Given the description of an element on the screen output the (x, y) to click on. 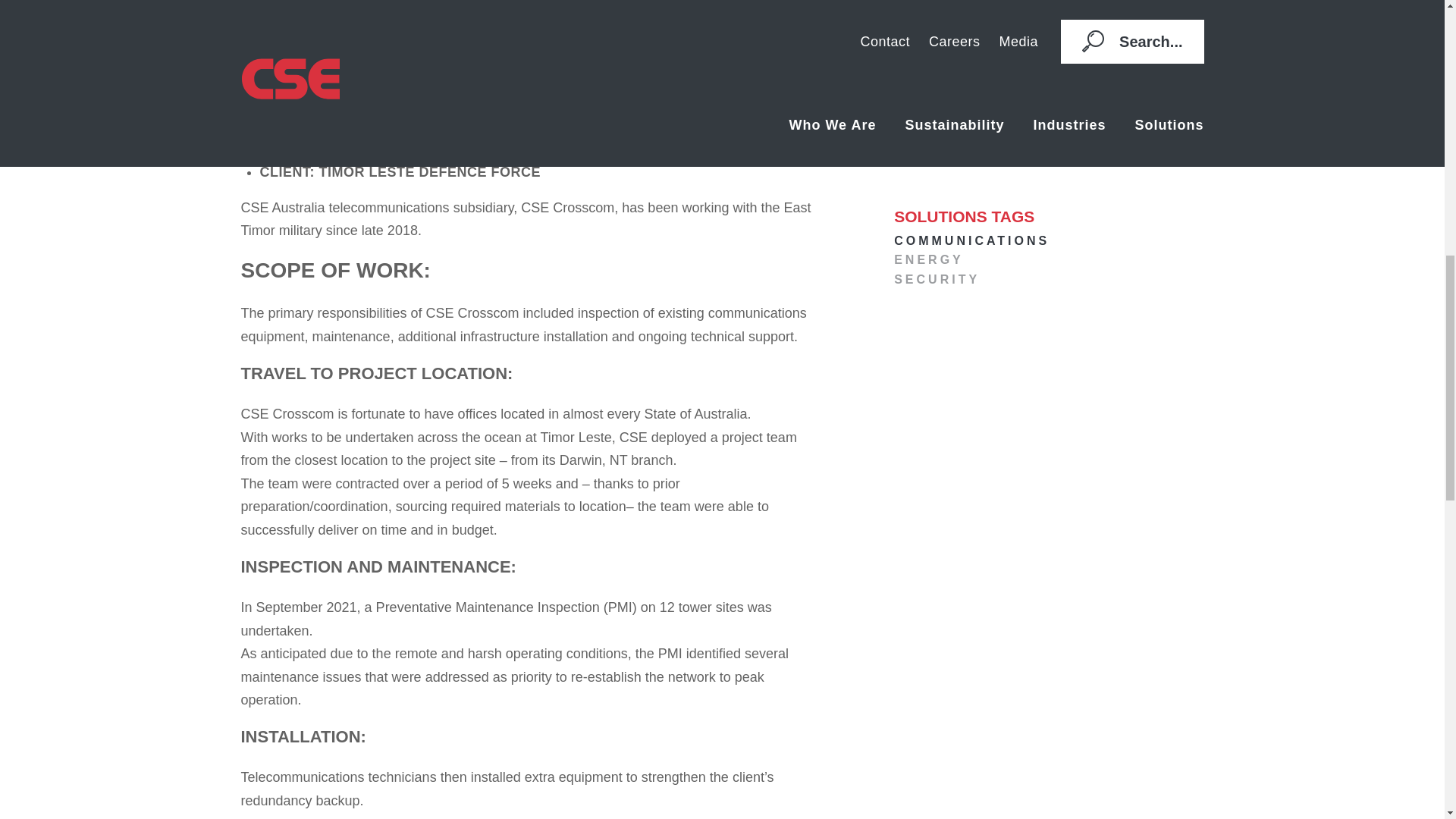
HEALTHCARE (1048, 4)
HOSPITALITY (1048, 22)
